Given the description of an element on the screen output the (x, y) to click on. 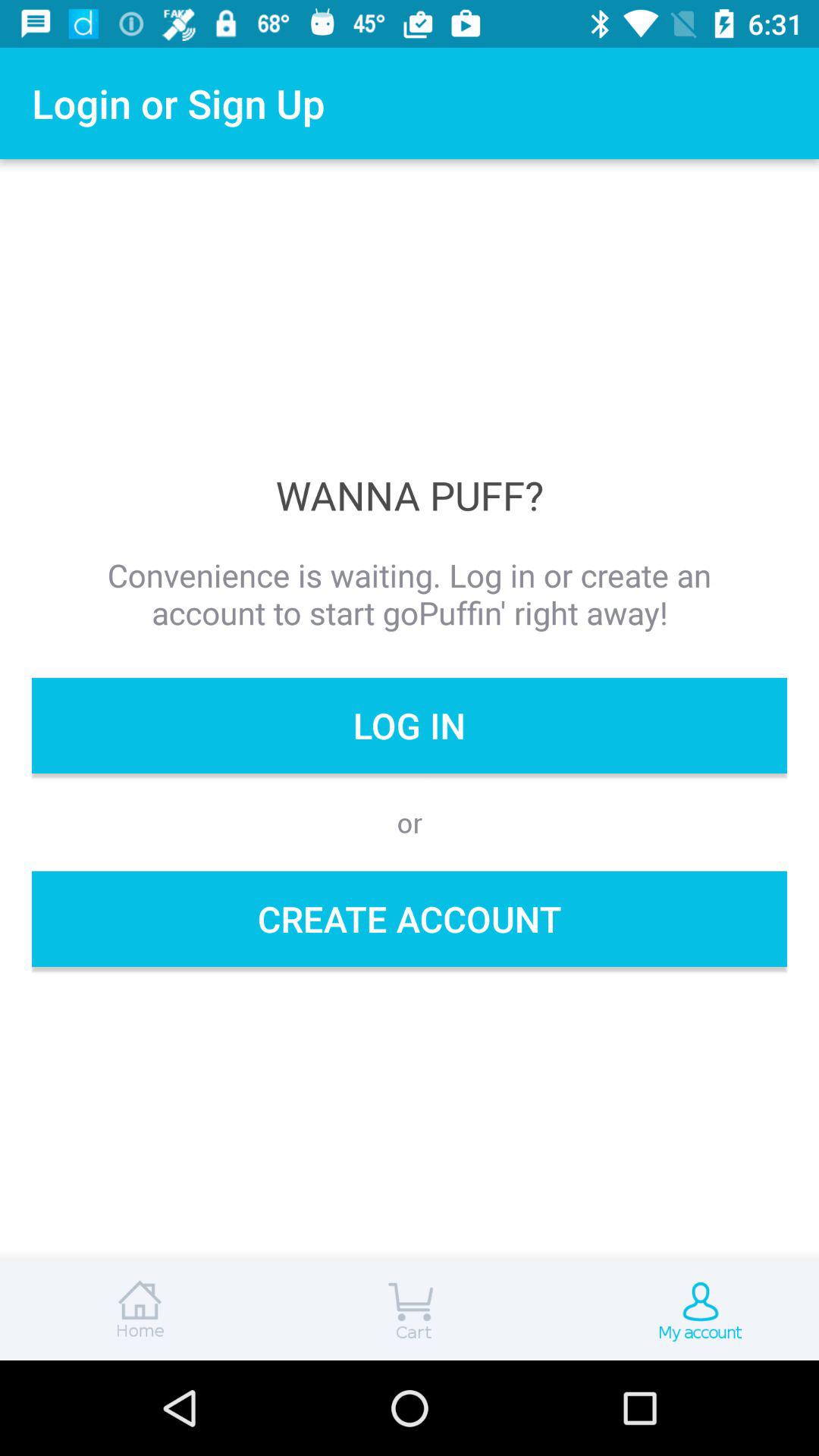
go to home page (136, 1310)
